Given the description of an element on the screen output the (x, y) to click on. 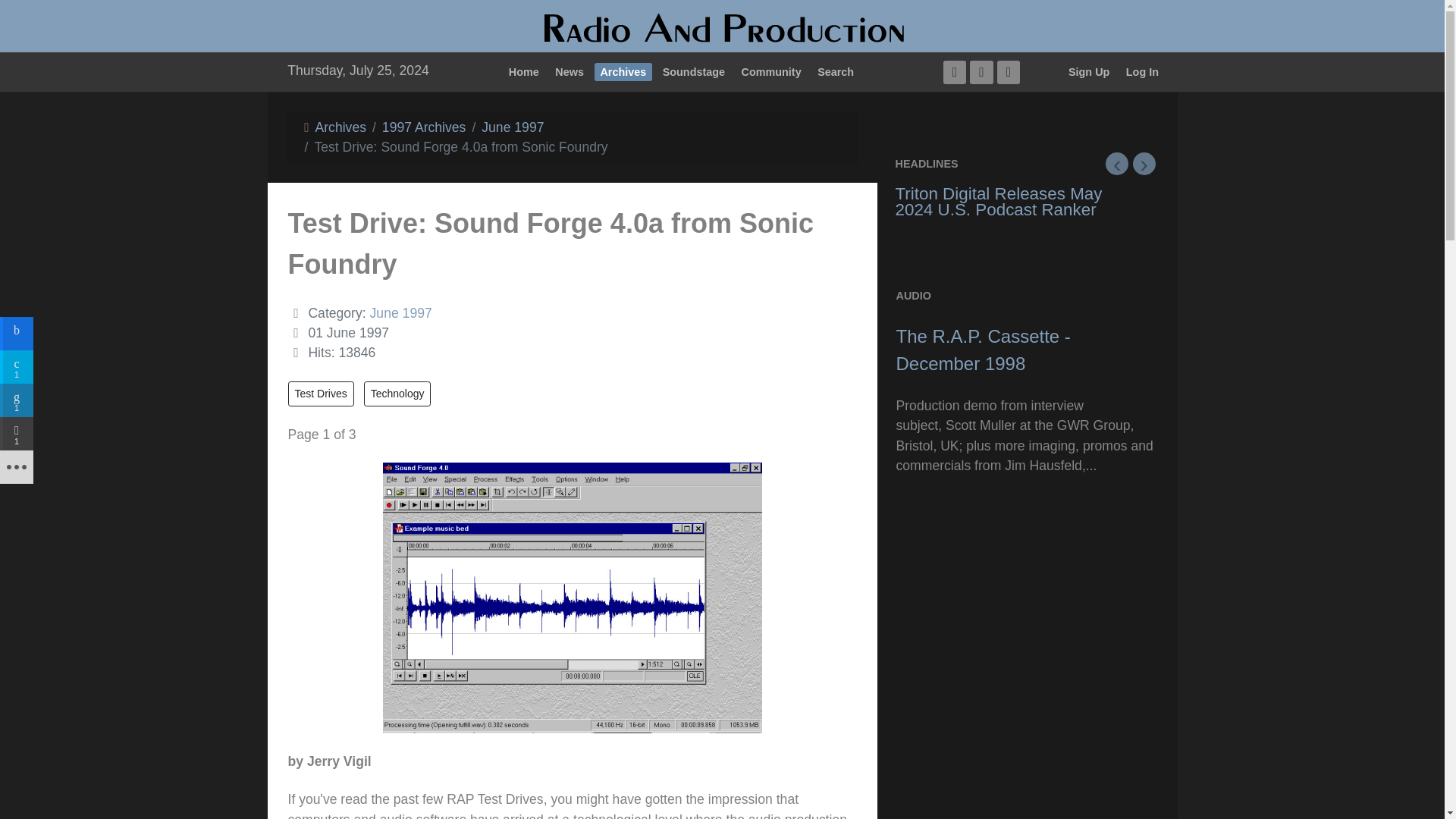
Community (770, 72)
Test Drives (320, 393)
Archives (623, 72)
June 1997 (400, 312)
1997 Archives (423, 127)
Home (523, 72)
June 1997 (512, 127)
Soundstage (693, 72)
Log In (1141, 72)
Sign Up (1088, 72)
Radio And Production (721, 28)
Technology (397, 393)
Archives (340, 127)
News (569, 72)
Search (836, 72)
